Given the description of an element on the screen output the (x, y) to click on. 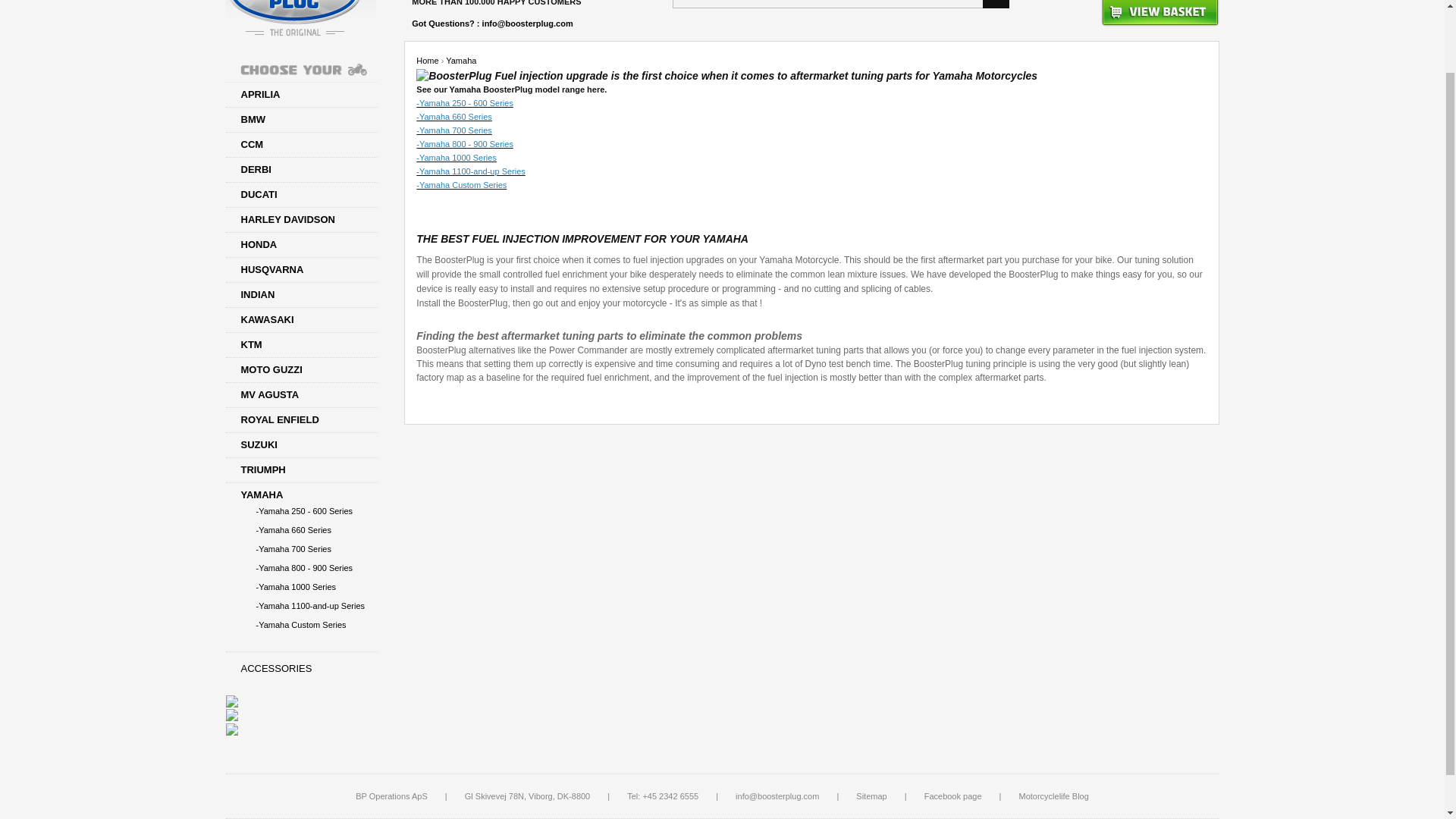
Derbi (301, 169)
DERBI (301, 169)
CCM (301, 144)
CCM (301, 144)
APRILIA (301, 94)
BMW (301, 119)
BMW (301, 119)
Aprilia (301, 94)
Ducati (301, 194)
DUCATI (301, 194)
